Given the description of an element on the screen output the (x, y) to click on. 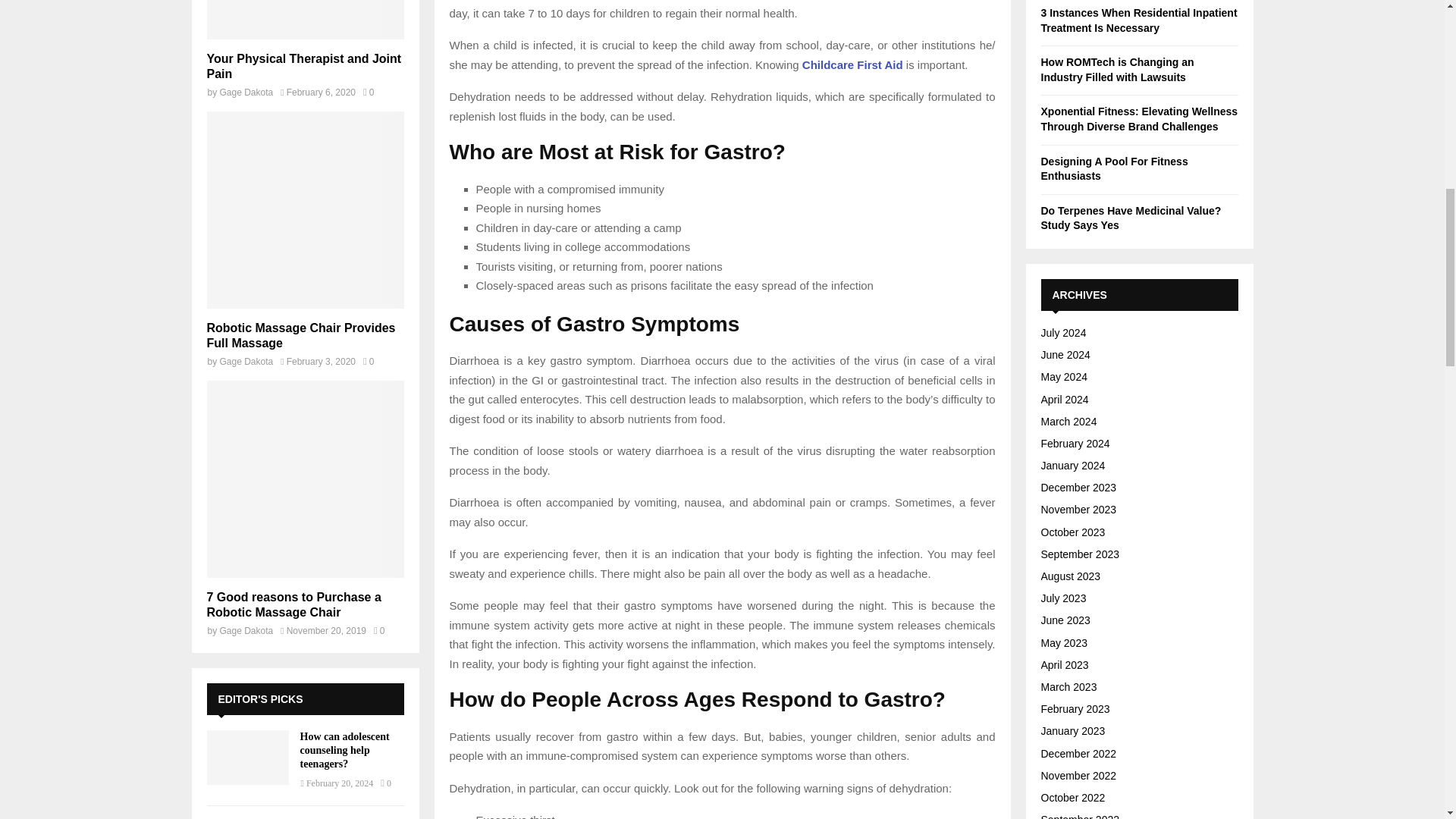
Your Physical Therapist and Joint Pain (304, 19)
How can adolescent counseling help teenagers? (247, 757)
 Your Physical Therapist and Joint Pain  (303, 66)
 7 Good reasons to Purchase a Robotic Massage Chair  (293, 604)
7 Good reasons to Purchase a Robotic Massage Chair (304, 479)
 Robotic Massage Chair Provides Full Massage  (300, 335)
 How can adolescent counseling help teenagers?  (344, 750)
Robotic Massage Chair Provides Full Massage (304, 209)
Childcare First Aid (852, 64)
